Given the description of an element on the screen output the (x, y) to click on. 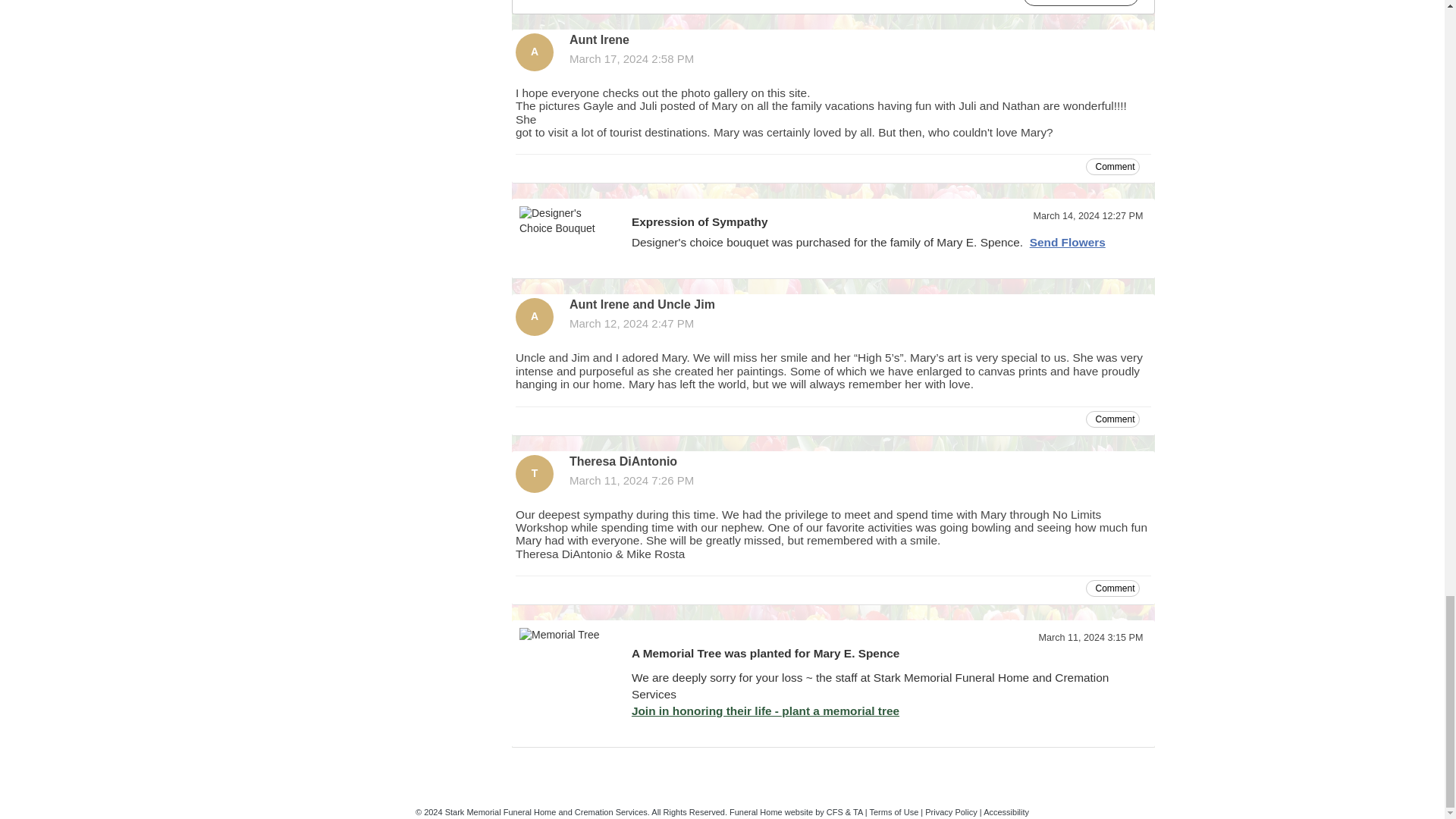
Aunt Irene and Uncle Jim (534, 316)
Theresa DiAntonio (534, 474)
Aunt Irene (534, 52)
